Given the description of an element on the screen output the (x, y) to click on. 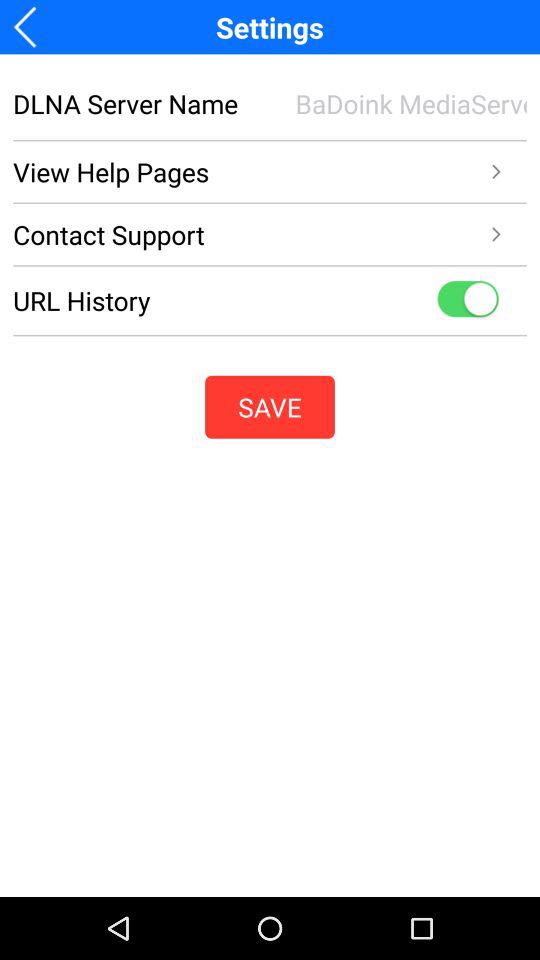
switch url history option (467, 300)
